Given the description of an element on the screen output the (x, y) to click on. 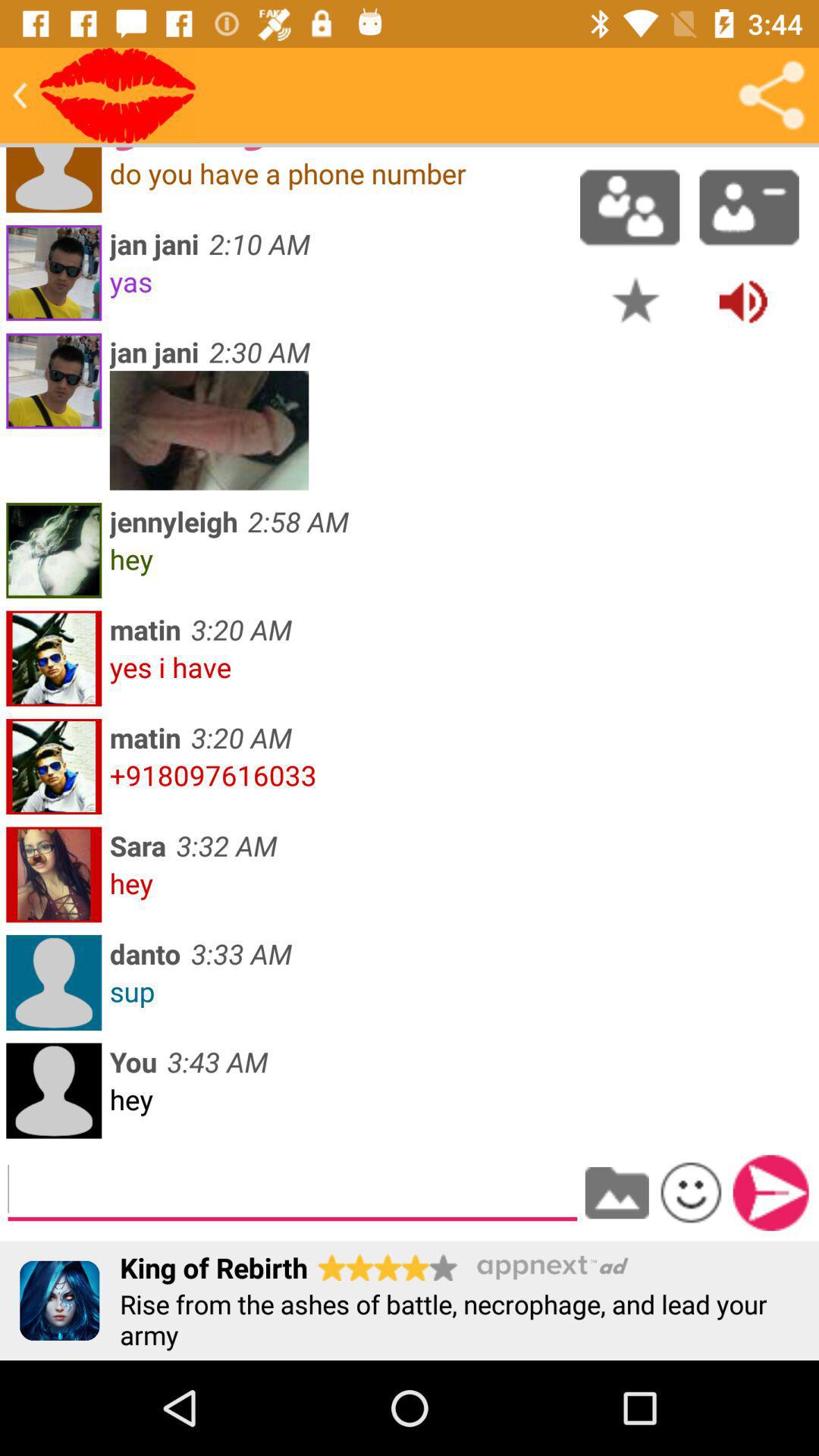
type message (292, 1189)
